Given the description of an element on the screen output the (x, y) to click on. 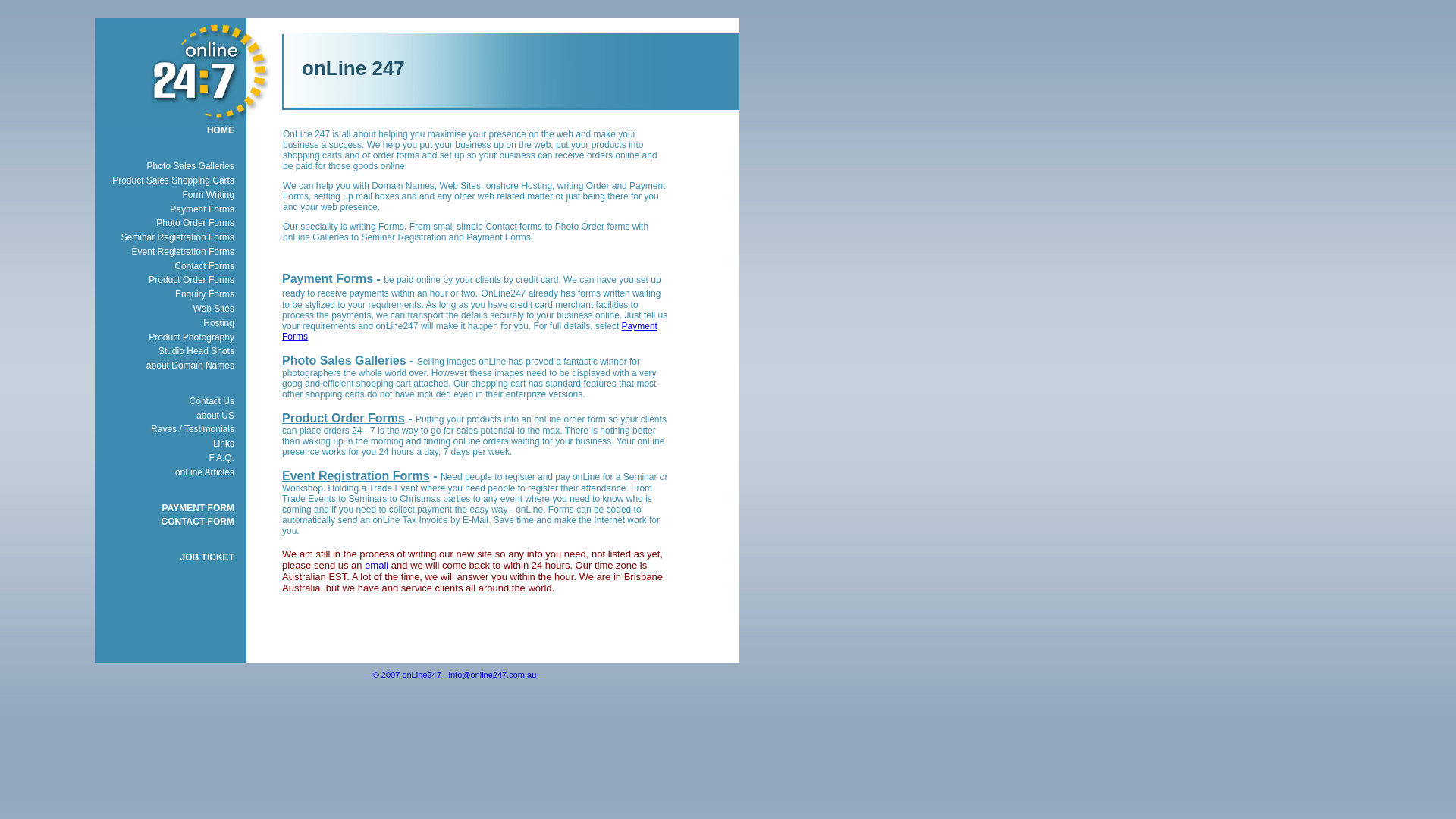
email Element type: text (376, 565)
F.A.Q.   Element type: text (166, 458)
Payment Forms   Element type: text (166, 208)
Links   Element type: text (166, 443)
Product Order Forms Element type: text (343, 417)
Product Order Forms   Element type: text (166, 280)
Photo Order Forms   Element type: text (166, 223)
Seminar Registration Forms   Element type: text (166, 237)
PAYMENT FORM   Element type: text (166, 507)
Product Photography   Element type: text (166, 336)
Contact Us   Element type: text (166, 401)
Event Registration Forms   Element type: text (166, 251)
Form Writing   Element type: text (166, 194)
info@online247.com.au Element type: text (490, 674)
Hosting   Element type: text (166, 322)
Photo Sales Galleries   Element type: text (166, 166)
Payment Forms Element type: text (469, 331)
Product Sales Shopping Carts   Element type: text (166, 180)
Contact Forms   Element type: text (166, 265)
JOB TICKET   Element type: text (166, 557)
onLine Articles   Element type: text (166, 471)
about Domain Names   Element type: text (166, 365)
HOME   Element type: text (166, 130)
CONTACT FORM   Element type: text (166, 521)
Raves / Testimonials   Element type: text (166, 429)
Studio Head Shots   Element type: text (166, 351)
Enquiry Forms   Element type: text (166, 294)
Web Sites   Element type: text (166, 308)
Event Registration Forms Element type: text (355, 475)
Photo Sales Galleries Element type: text (344, 360)
about US   Element type: text (166, 414)
Payment Forms Element type: text (327, 278)
